Given the description of an element on the screen output the (x, y) to click on. 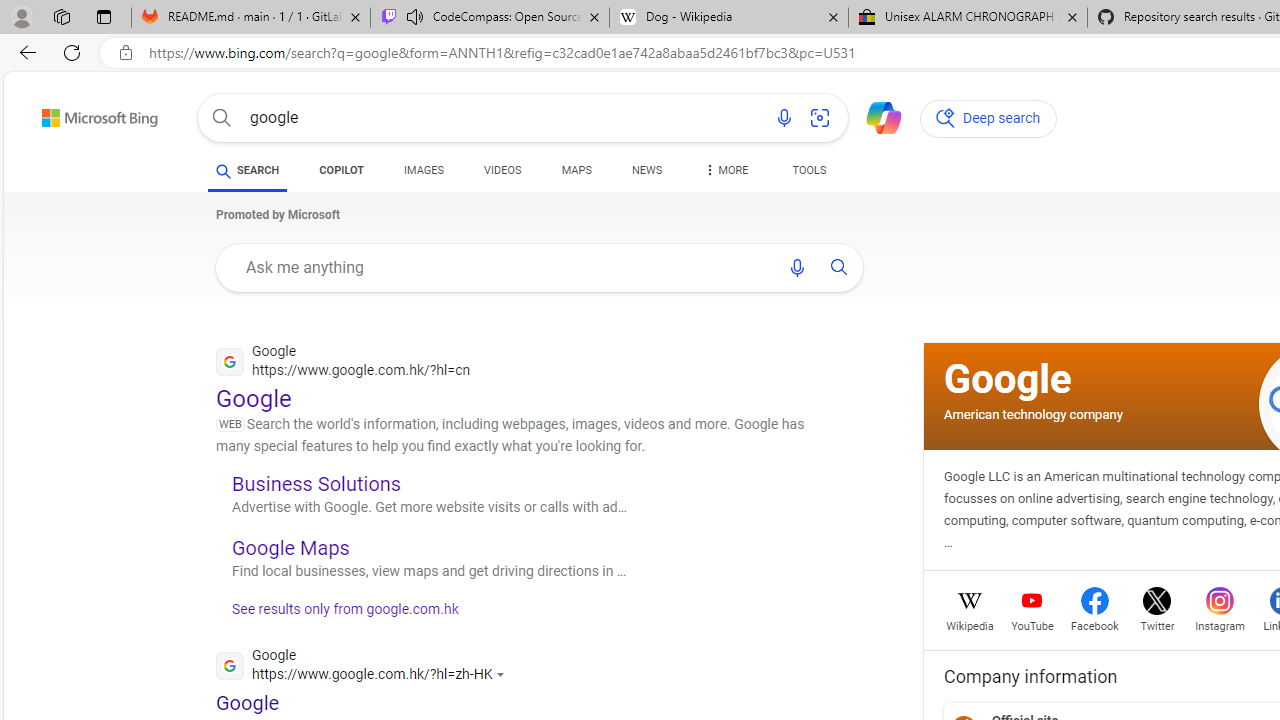
Wikipedia (969, 624)
Actions for this site (503, 673)
See results only from google.com.hk (337, 614)
Google Maps (290, 547)
Dropdown Menu (724, 170)
AutomationID: uaseabtn (839, 267)
IMAGES (424, 170)
NEWS (646, 173)
Mute tab (414, 16)
Chat (875, 116)
TOOLS (808, 173)
